Given the description of an element on the screen output the (x, y) to click on. 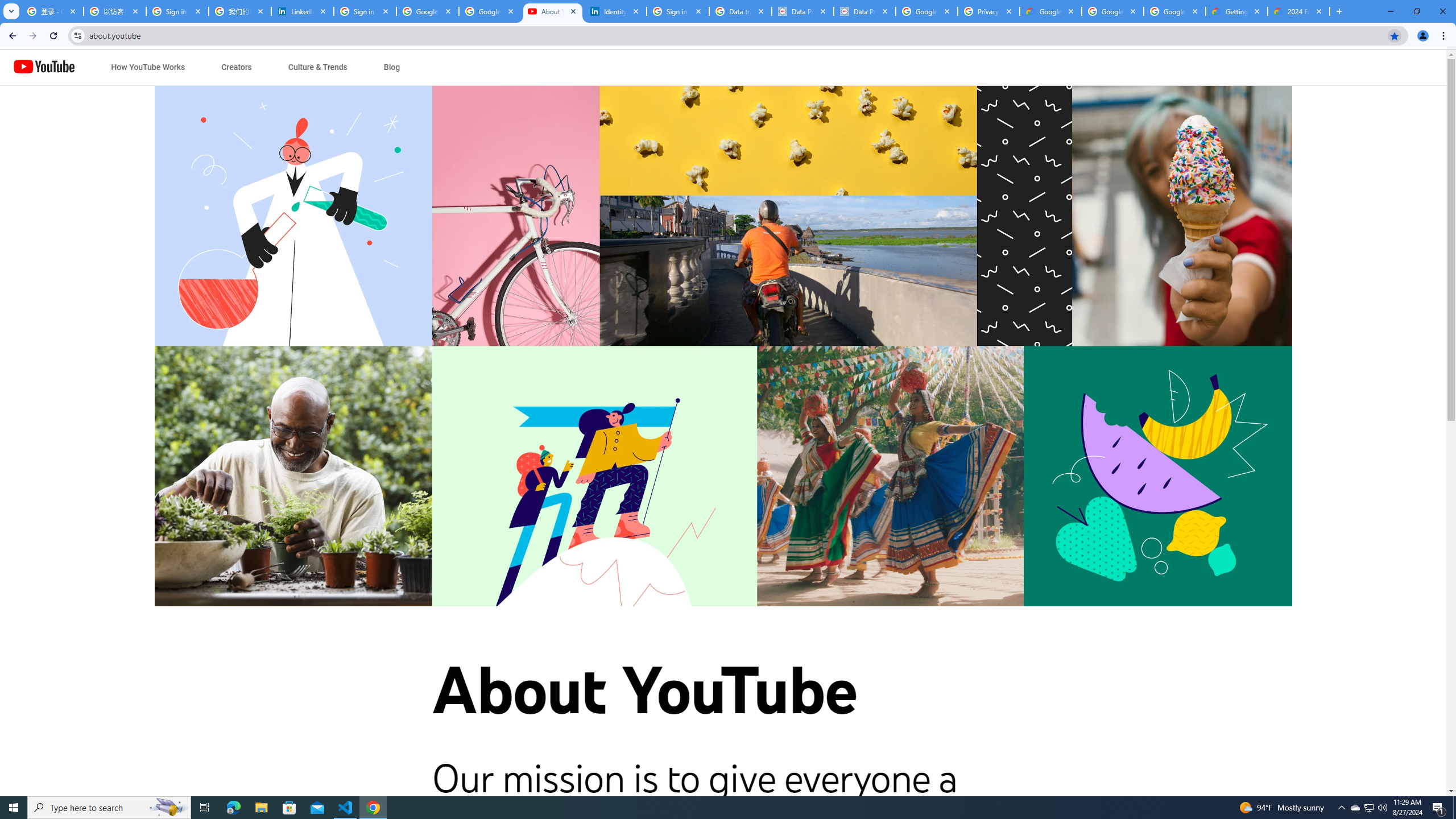
Data Privacy Framework (864, 11)
Data Privacy Framework (802, 11)
Home page link (44, 67)
Creators (236, 67)
Google Workspace - Specific Terms (1111, 11)
LinkedIn Privacy Policy (302, 11)
Sign in - Google Accounts (365, 11)
How YouTube Works (147, 67)
